Given the description of an element on the screen output the (x, y) to click on. 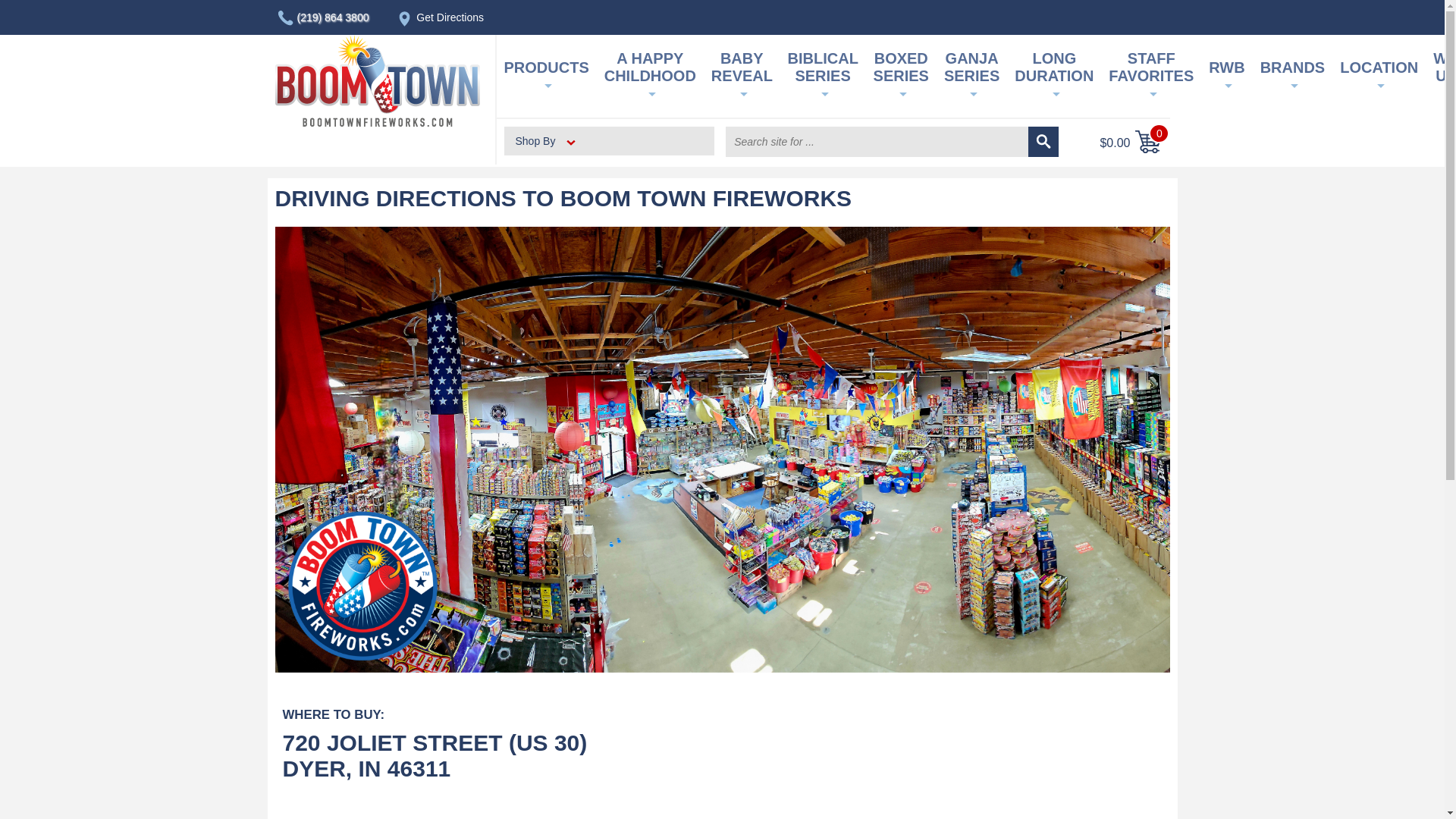
SEARCH (1042, 141)
